Given the description of an element on the screen output the (x, y) to click on. 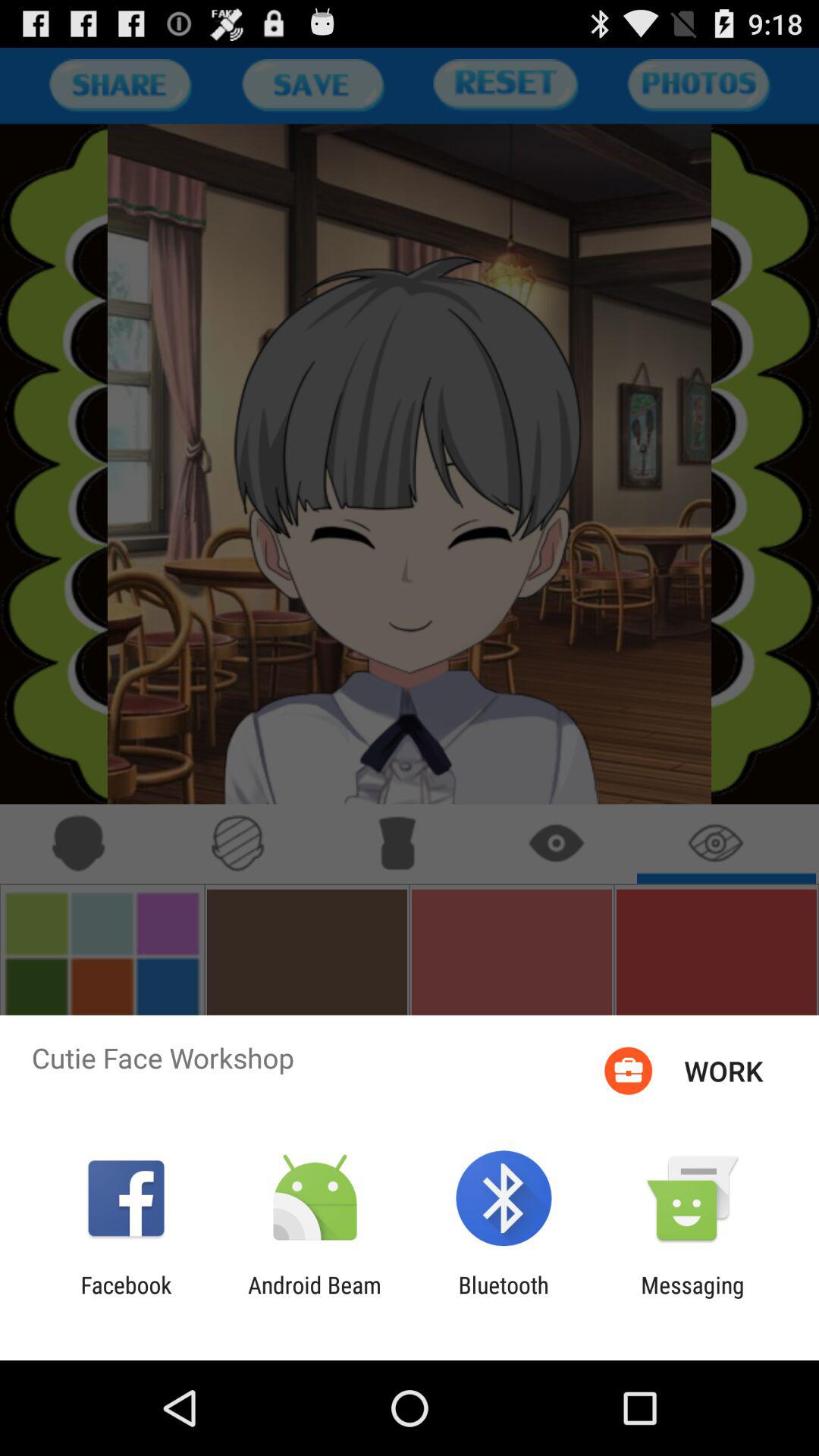
launch icon to the left of messaging item (503, 1298)
